Given the description of an element on the screen output the (x, y) to click on. 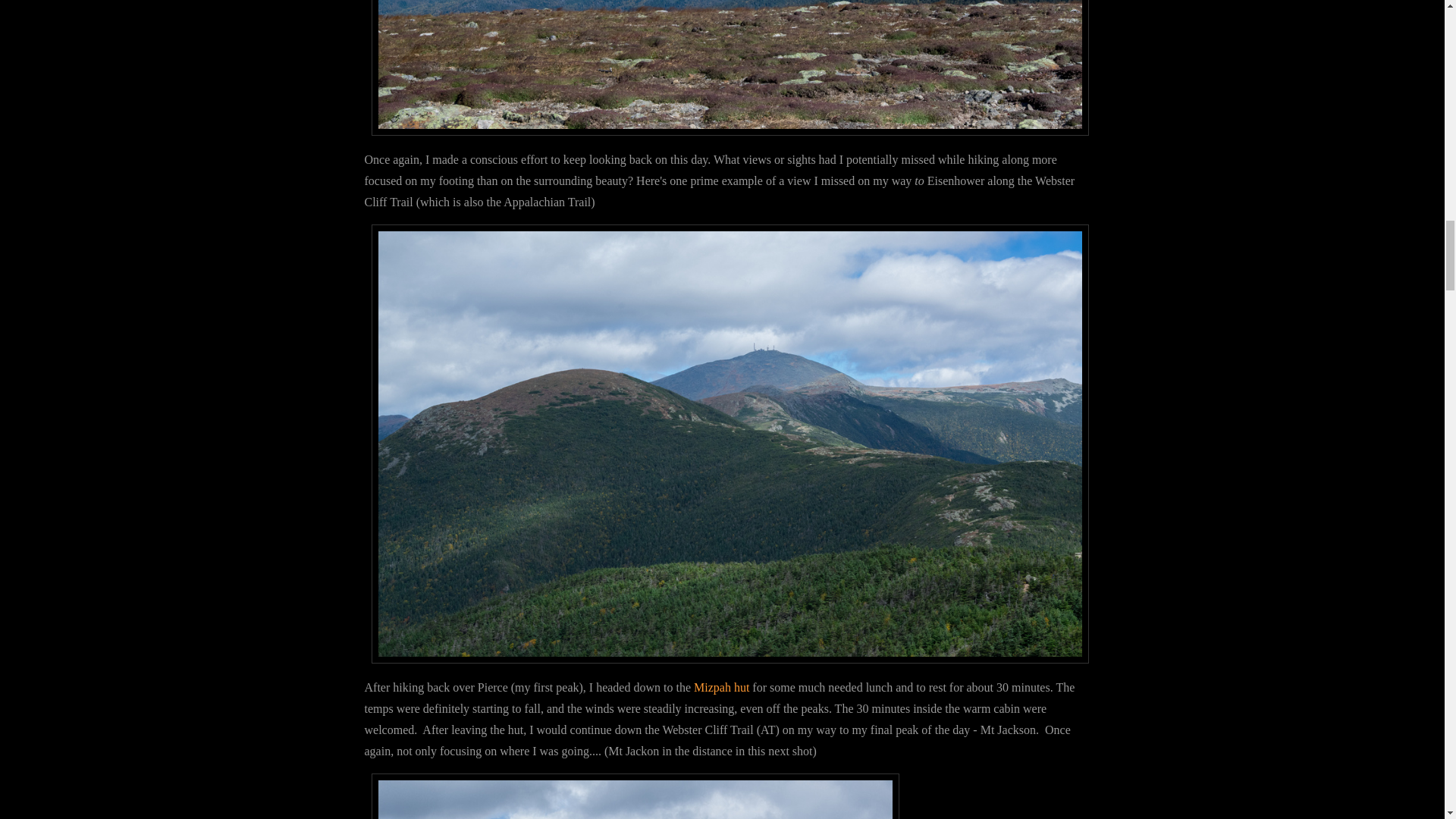
Mizpah hut (723, 686)
